Given the description of an element on the screen output the (x, y) to click on. 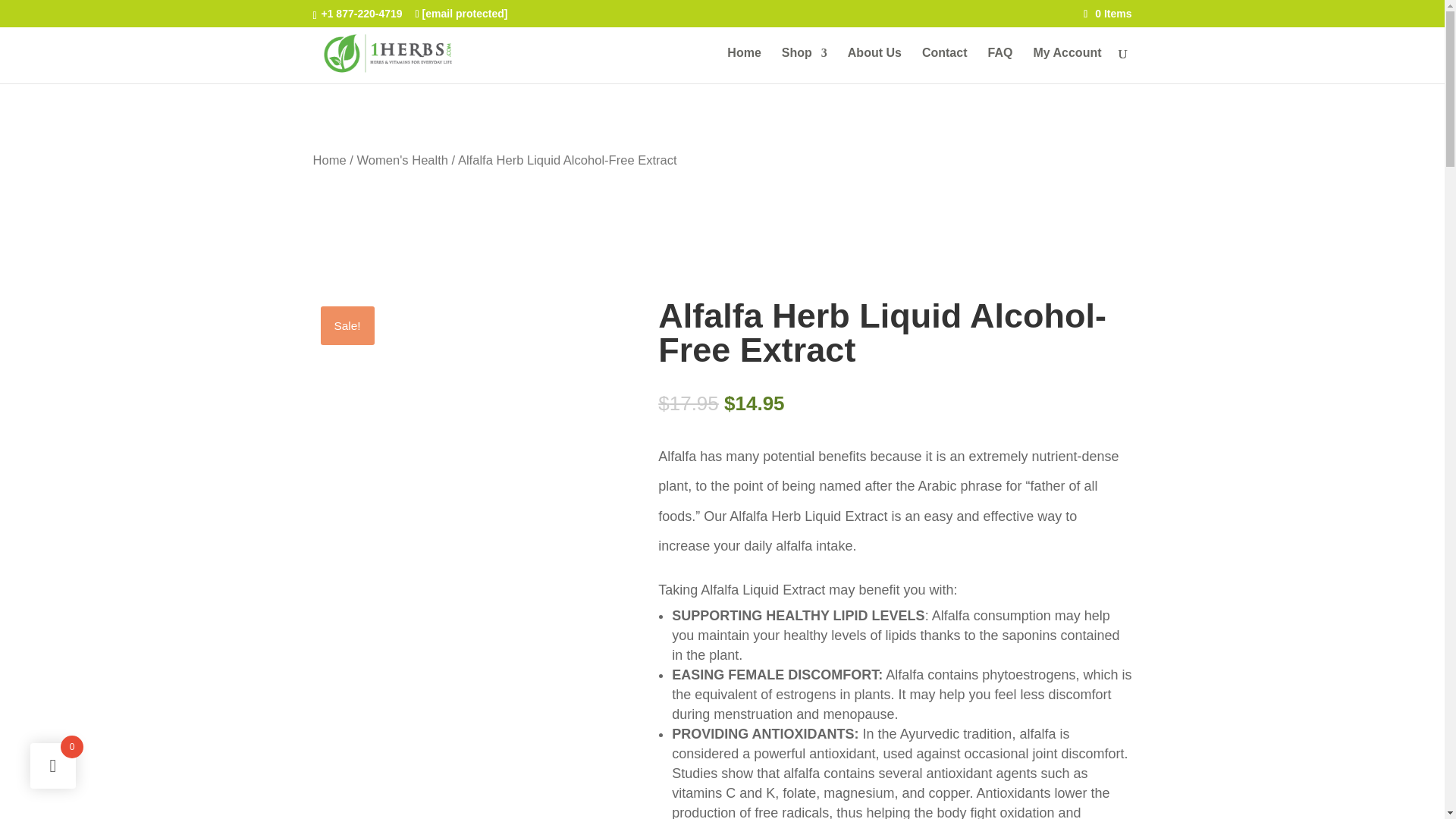
Shop (804, 65)
Women's Health (402, 160)
Contact (944, 65)
My Account (1066, 65)
Home (743, 65)
About Us (874, 65)
Home (329, 160)
0 Items (1107, 13)
